Given the description of an element on the screen output the (x, y) to click on. 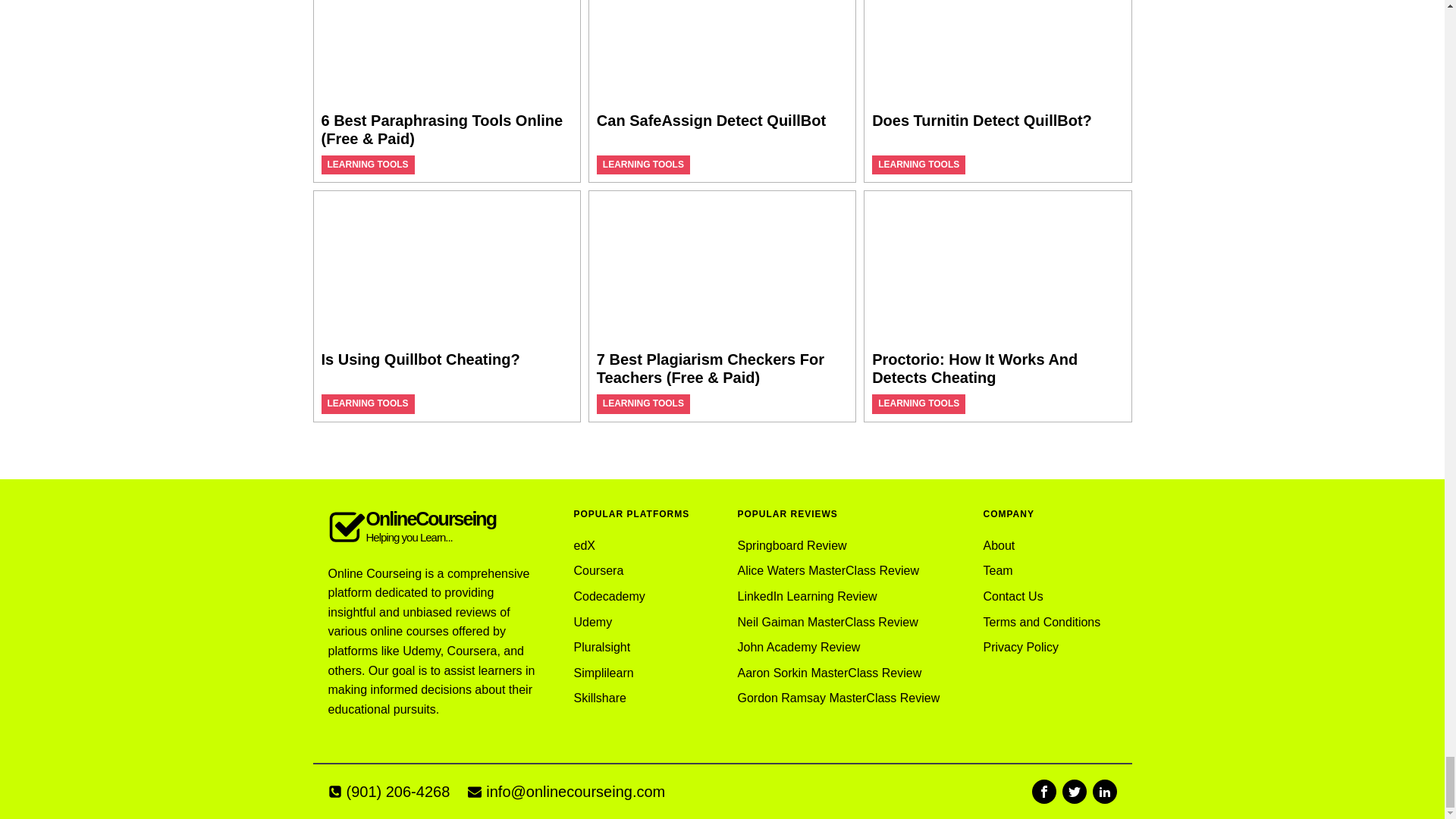
LEARNING TOOLS (918, 163)
LEARNING TOOLS (368, 163)
Can SafeAssign Detect QuillBot (710, 120)
Does Turnitin Detect QuillBot? (982, 120)
LEARNING TOOLS (643, 163)
